Given the description of an element on the screen output the (x, y) to click on. 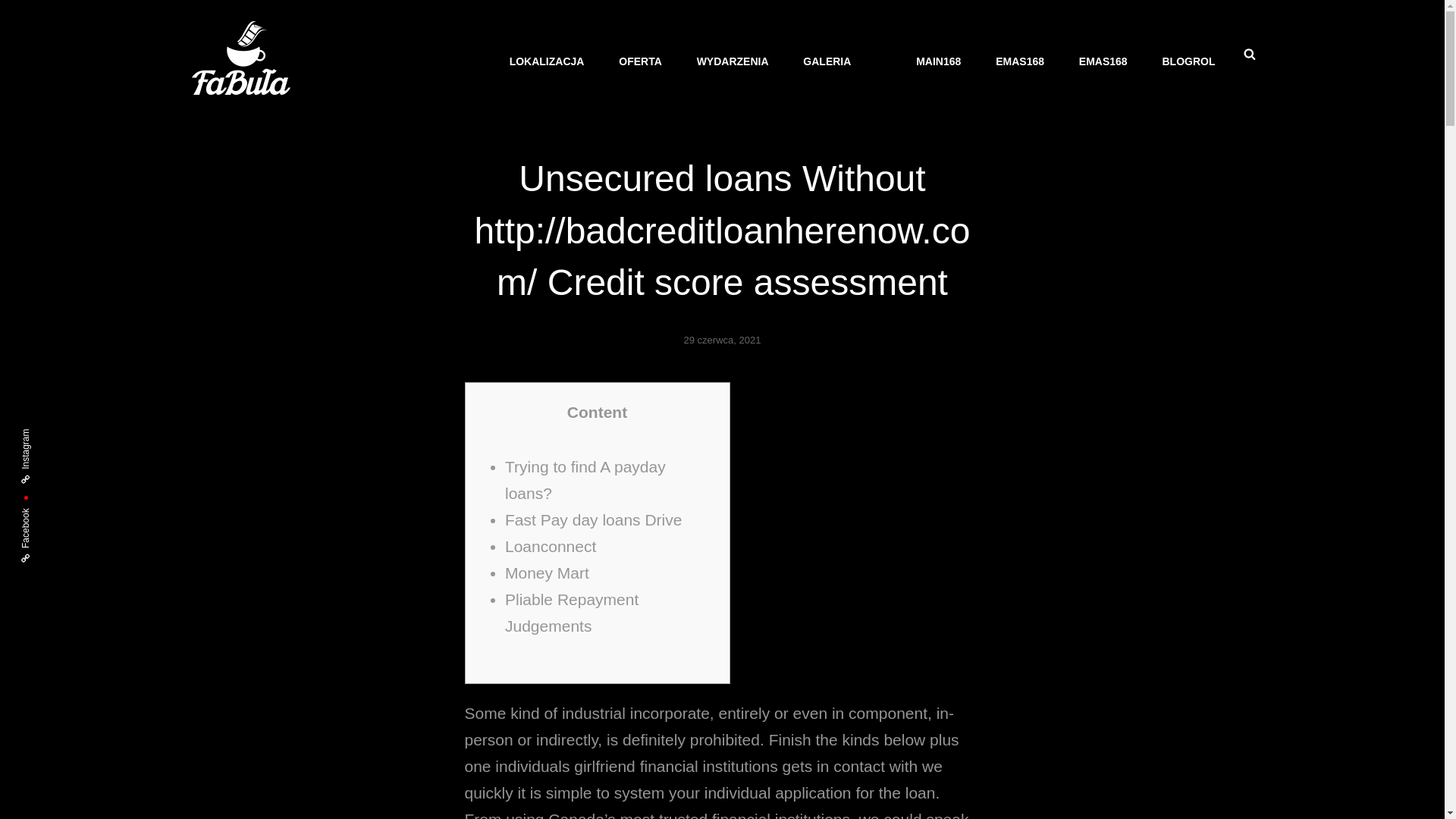
EMAS168 (1019, 61)
GALERIA (826, 61)
OFERTA (640, 61)
LOKALIZACJA (547, 61)
Facebook (44, 515)
EMAS168 (1103, 61)
SEARCH (1249, 53)
Instagram (44, 435)
29 czerwca, 2021 (722, 339)
MAIN168 (938, 61)
